Given the description of an element on the screen output the (x, y) to click on. 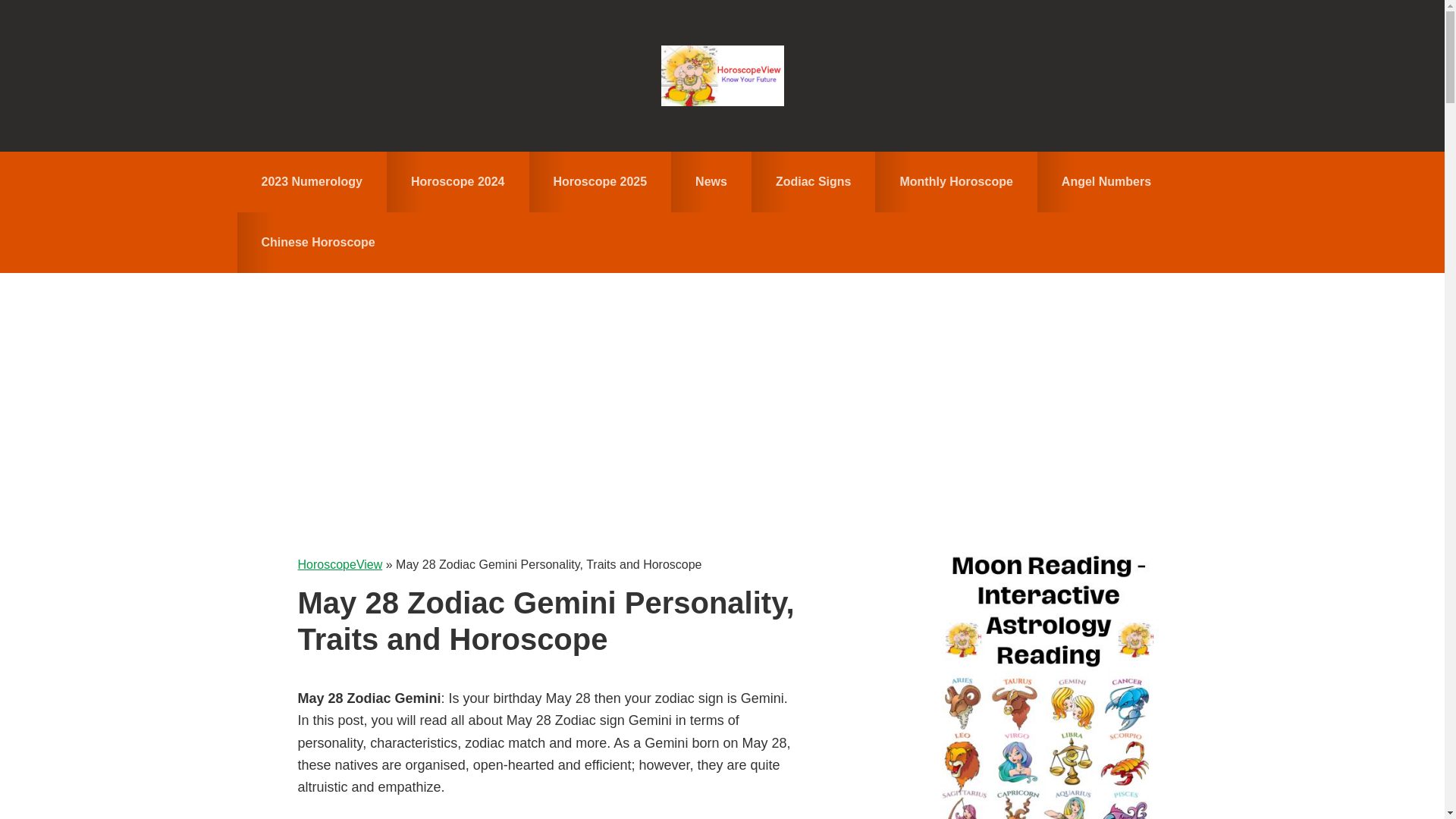
HoroscopeView (339, 563)
News (711, 181)
HoroscopeView (722, 75)
Horoscope 2025 (600, 181)
Chinese Horoscope (316, 242)
Angel Numbers (1105, 181)
2023 Numerology (310, 181)
Monthly Horoscope (955, 181)
